Given the description of an element on the screen output the (x, y) to click on. 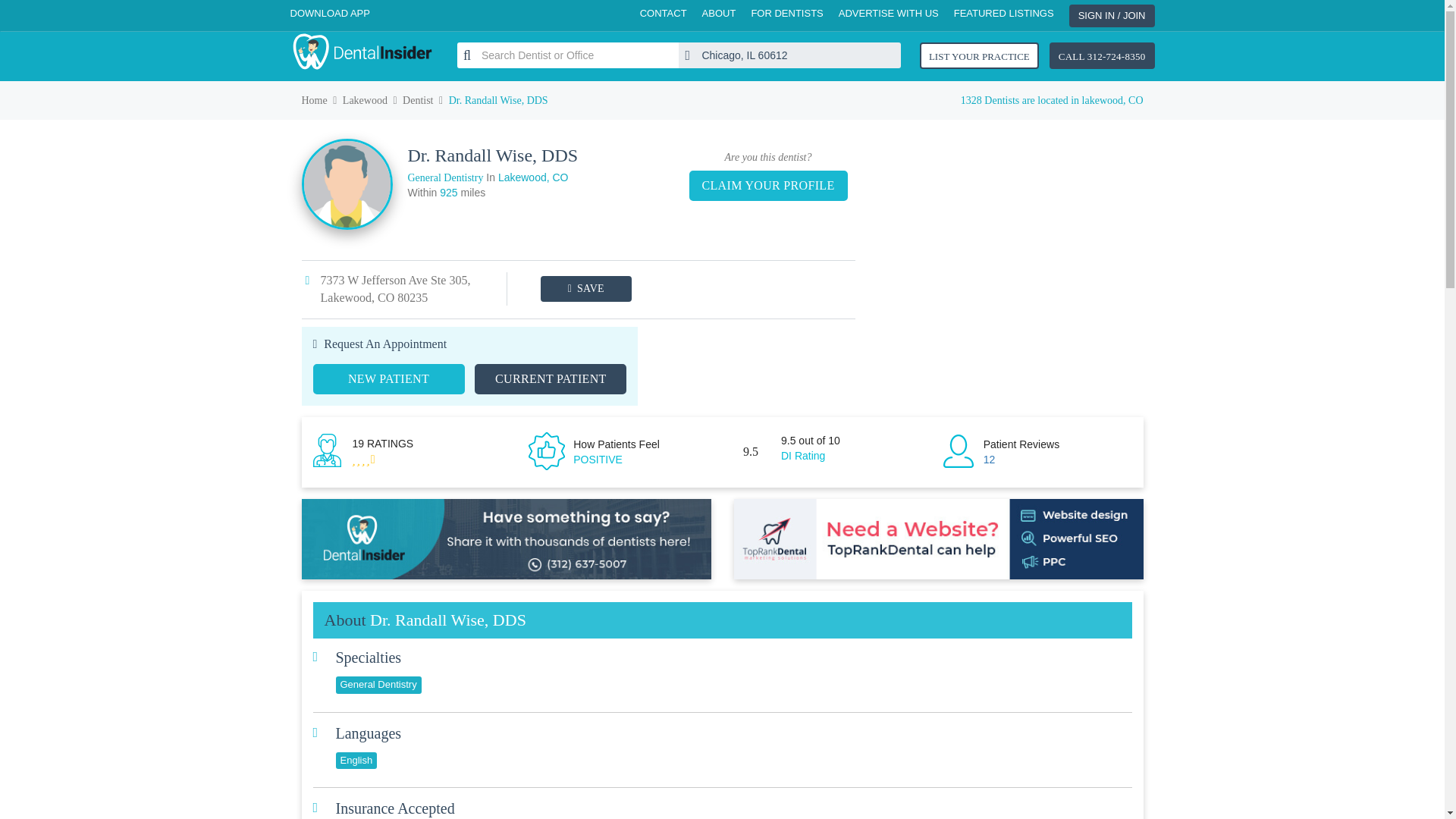
Dr. Randall Wise, DDS (382, 443)
Home (314, 100)
FEATURED LISTINGS (1003, 13)
Chicago, IL 60612 (789, 54)
Dr. Randall Wise, DDS (989, 459)
19 RATINGS (382, 443)
12 (989, 459)
CONTACT (663, 13)
ABOUT (718, 13)
NEW PATIENT (388, 378)
